Given the description of an element on the screen output the (x, y) to click on. 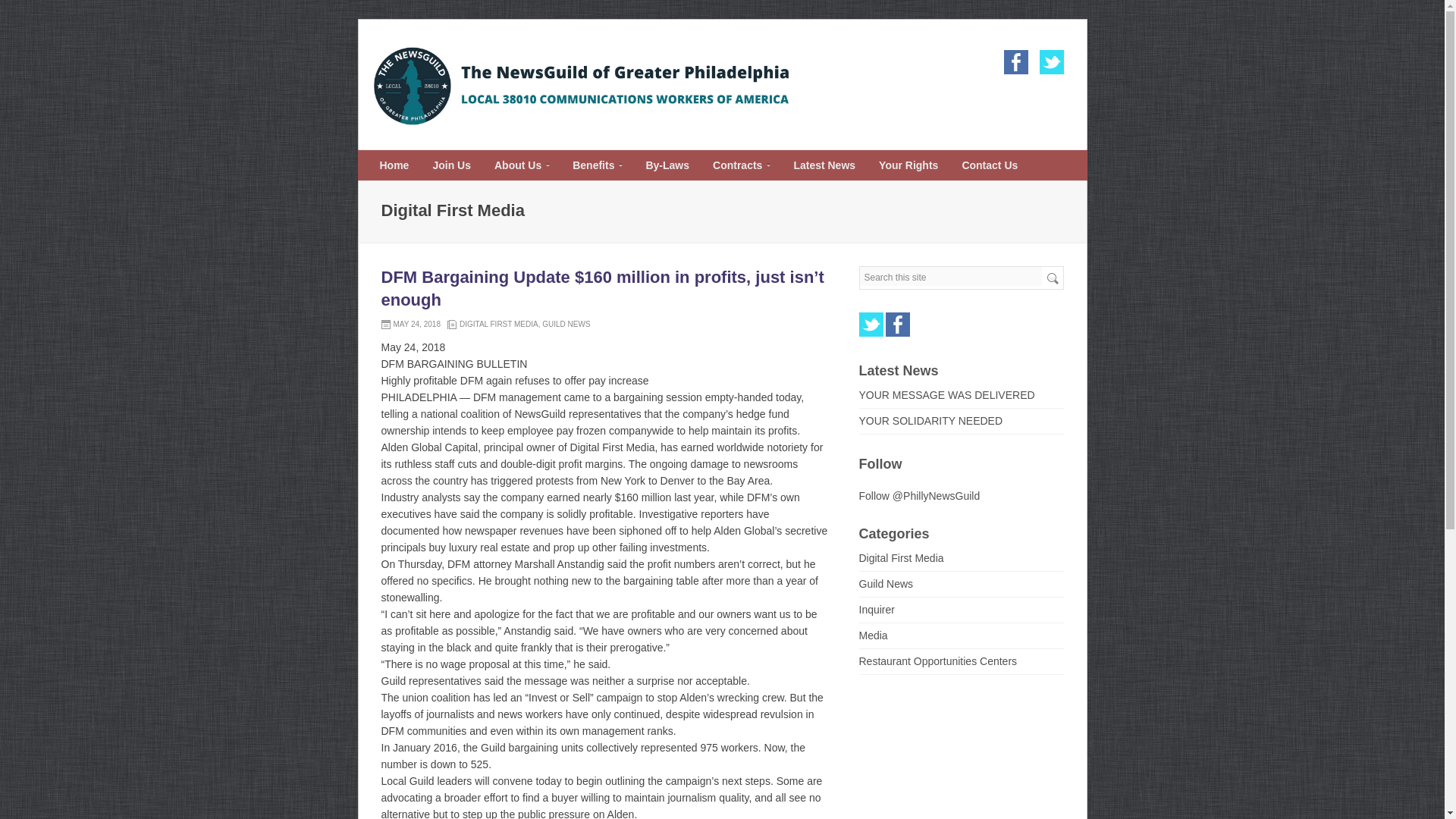
DIGITAL FIRST MEDIA (499, 324)
By-Laws (667, 164)
Contracts (741, 164)
Search this site (951, 275)
Benefits (596, 164)
The NewsGuild of Greater Philadelphia (585, 122)
Home (393, 164)
Latest News (824, 164)
GUILD NEWS (565, 324)
Join Us (451, 164)
